Given the description of an element on the screen output the (x, y) to click on. 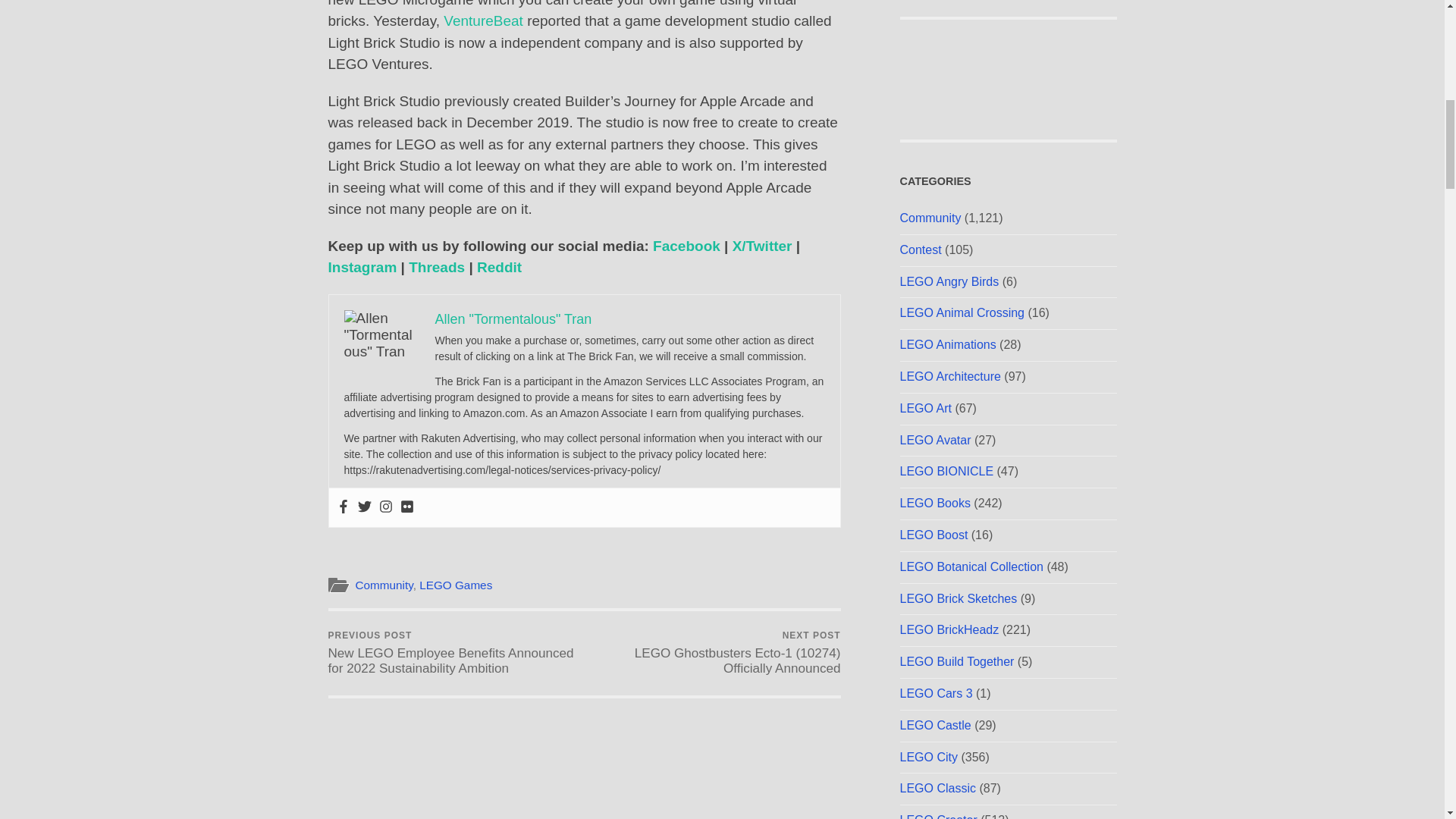
LEGO Games (455, 584)
Allen "Tormentalous" Tran (513, 319)
Community (383, 584)
VentureBeat (483, 20)
Reddit (499, 267)
Threads (436, 267)
Facebook (686, 245)
Instagram (361, 267)
